Given the description of an element on the screen output the (x, y) to click on. 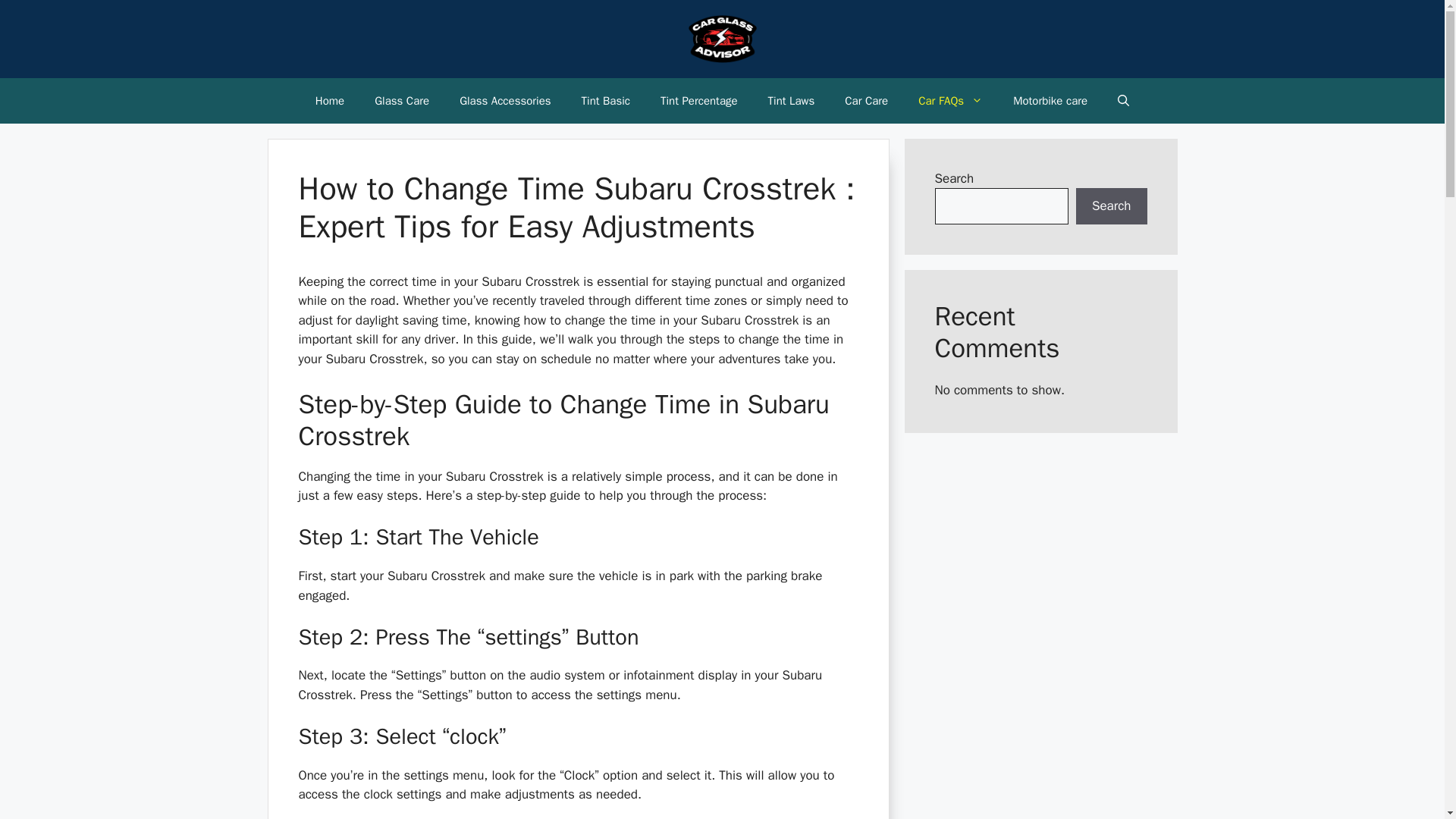
Glass Accessories (505, 100)
Car FAQs (949, 100)
Home (329, 100)
Motorbike care (1049, 100)
Car Care (865, 100)
Tint Percentage (698, 100)
Tint Basic (605, 100)
Glass Care (401, 100)
Tint Laws (790, 100)
